Given the description of an element on the screen output the (x, y) to click on. 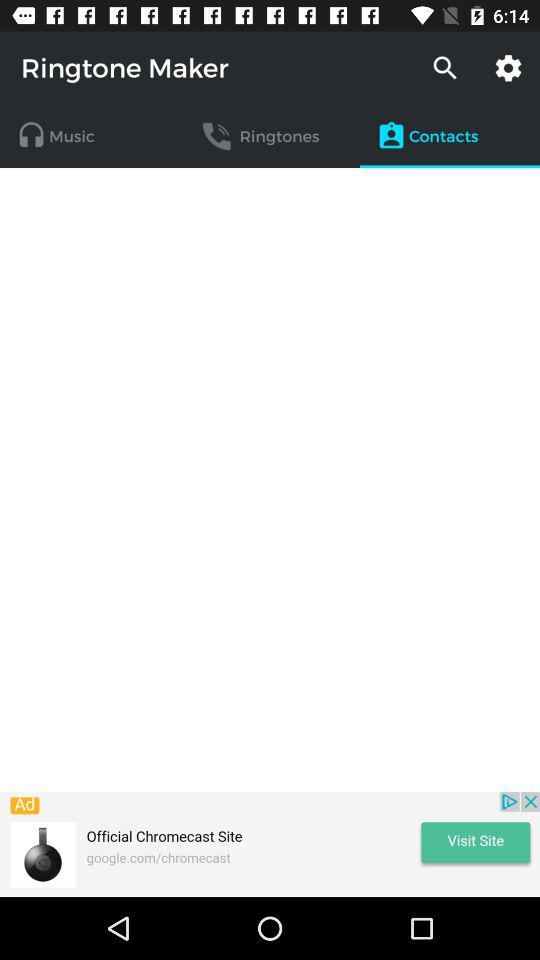
a link to an advertisement (270, 844)
